Given the description of an element on the screen output the (x, y) to click on. 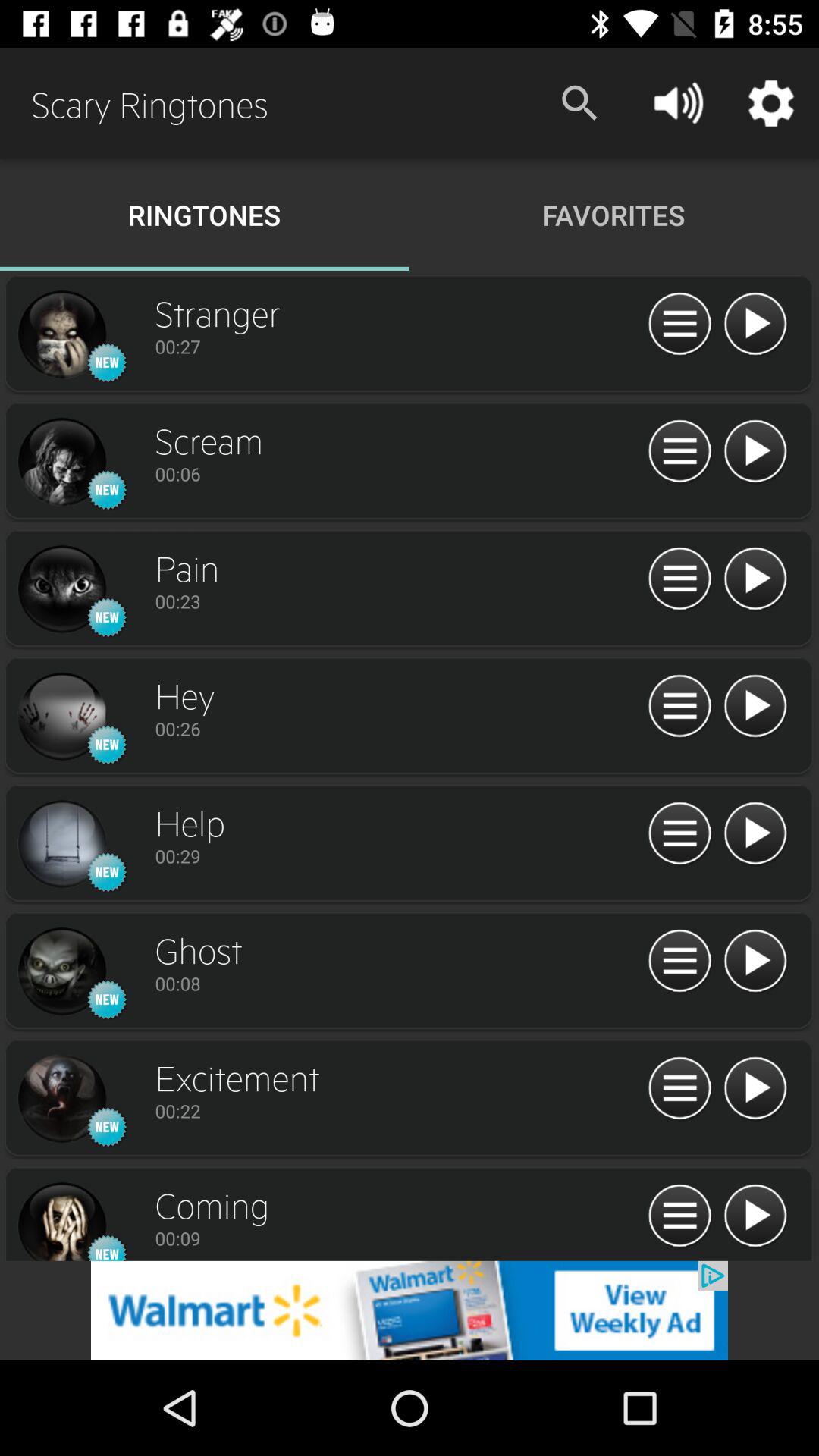
select the play (755, 579)
